Given the description of an element on the screen output the (x, y) to click on. 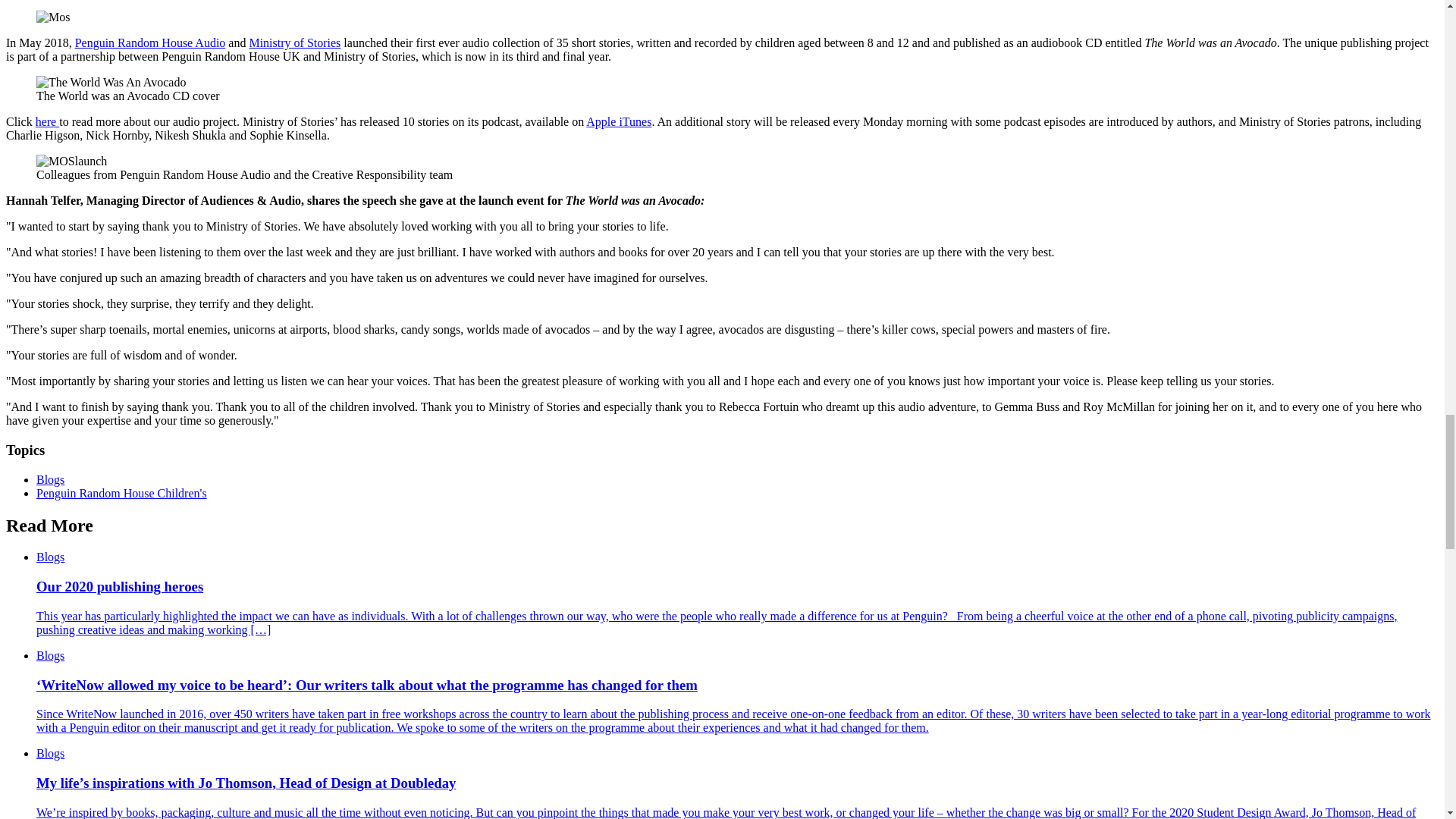
Penguin Random House Children's (121, 492)
Penguin Random House Audio (150, 42)
Apple iTunes (618, 121)
Ministry of Stories (294, 42)
Blogs (50, 479)
here  (46, 121)
